Given the description of an element on the screen output the (x, y) to click on. 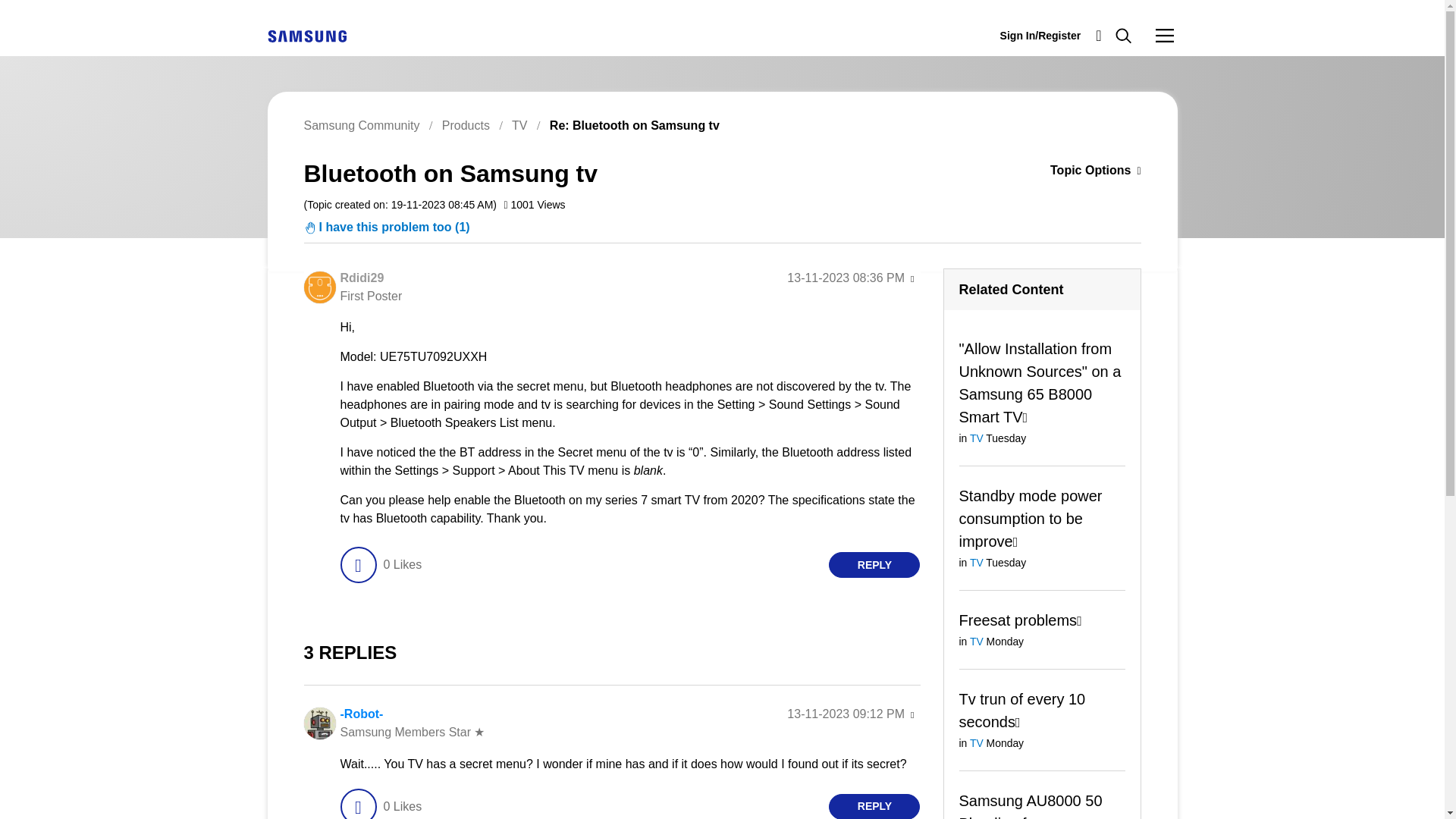
Products (465, 124)
TV (519, 124)
Show option menu (1072, 171)
Show option menu (912, 279)
Rdidi29 (361, 277)
Click here to give likes to this post. (357, 565)
Samsung Community (360, 124)
-Robot- (360, 713)
The total number of likes this post has received. (401, 565)
Community (1164, 35)
Topic Options (1072, 171)
English (306, 34)
English (306, 36)
REPLY (874, 565)
Rdidi29 (318, 287)
